Given the description of an element on the screen output the (x, y) to click on. 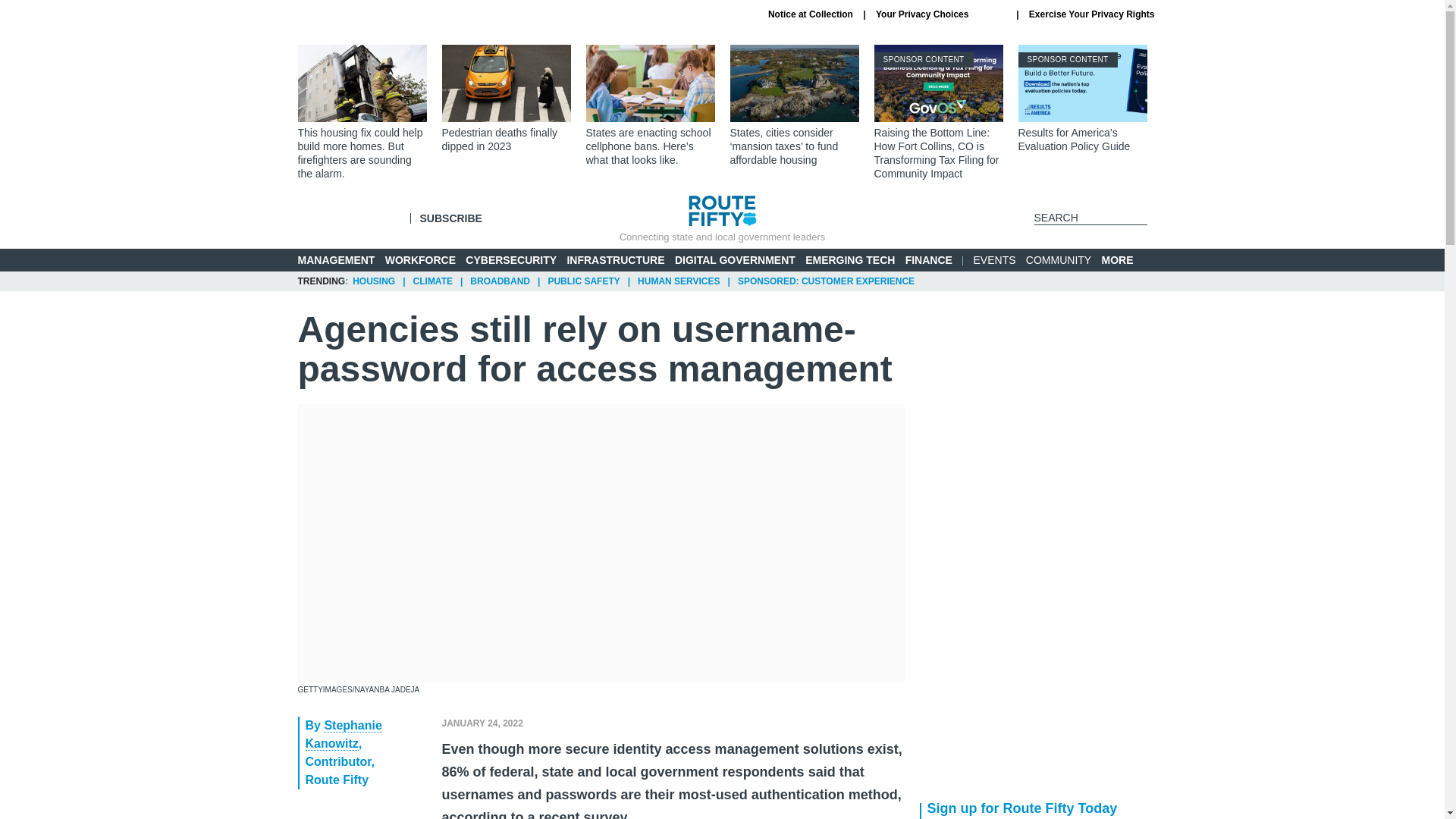
INFRASTRUCTURE (614, 259)
FINANCE (928, 259)
DIGITAL GOVERNMENT (734, 259)
Notice at Collection (810, 14)
COMMUNITY (1058, 259)
WORKFORCE (420, 259)
MORE (1123, 260)
EMERGING TECH (850, 259)
EVENTS (995, 259)
SUBSCRIBE (450, 218)
Pedestrian deaths finally dipped in 2023 (505, 99)
MANAGEMENT (335, 259)
Exercise Your Privacy Rights (1091, 14)
